Given the description of an element on the screen output the (x, y) to click on. 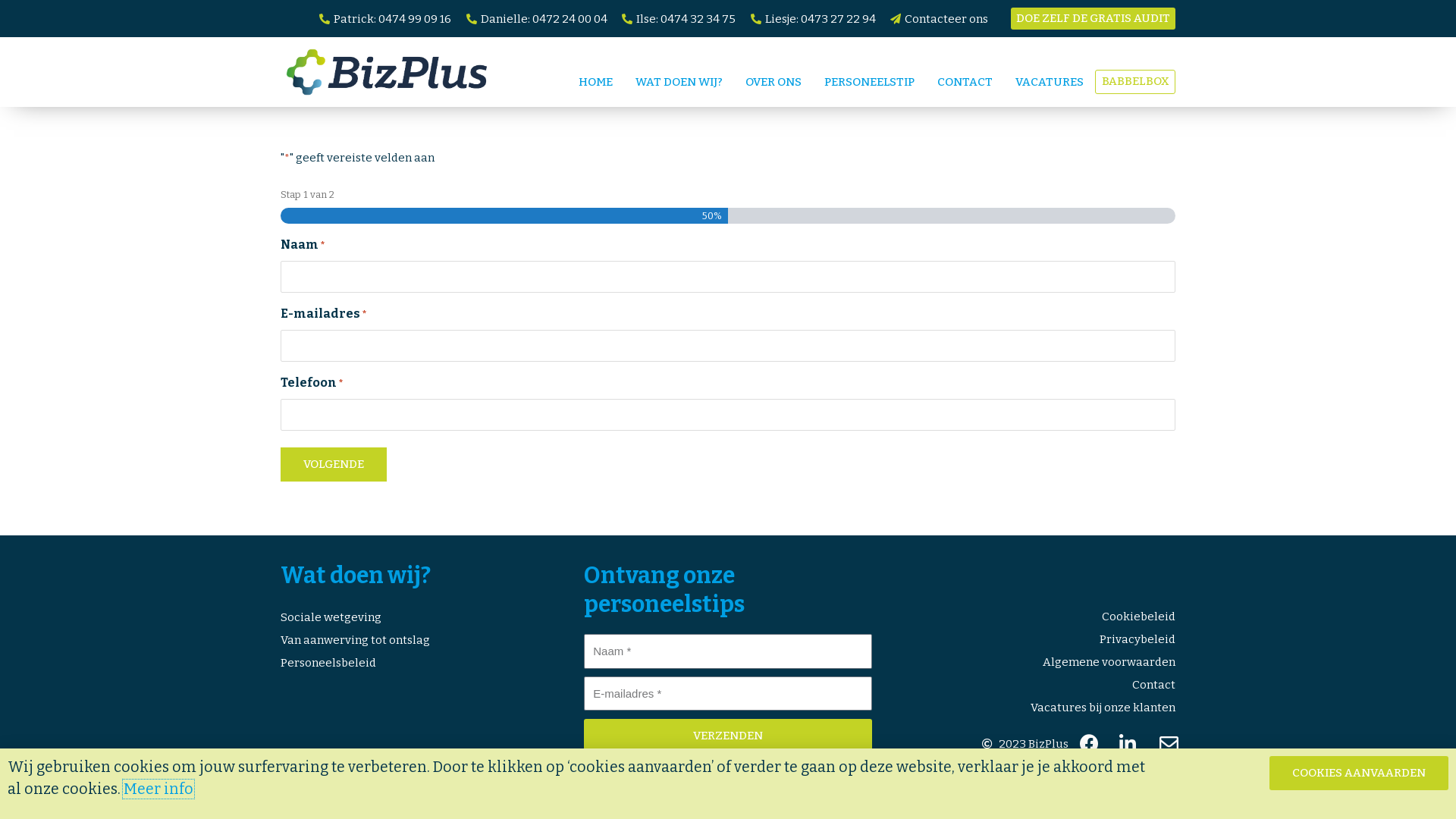
VACATURES Element type: text (1049, 81)
Cookiebeleid Element type: text (1031, 616)
VERZENDEN Element type: text (727, 735)
HOME Element type: text (595, 81)
WAT DOEN WIJ? Element type: text (679, 81)
COOKIES AANVAARDEN Element type: text (1358, 773)
Contacteer ons Element type: text (937, 18)
Volgende Element type: text (333, 464)
Vacatures bij onze klanten Element type: text (1031, 707)
OVER ONS Element type: text (773, 81)
Van aanwerving tot ontslag Element type: text (424, 639)
Privacybeleid Element type: text (1031, 638)
Sociale wetgeving Element type: text (424, 616)
Danielle: 0472 24 00 04 Element type: text (535, 18)
Ilse: 0474 32 34 75 Element type: text (676, 18)
CONTACT Element type: text (964, 81)
Personeelsbeleid Element type: text (424, 662)
DOE ZELF DE GRATIS AUDIT Element type: text (1092, 18)
Contact Element type: text (1031, 684)
Meer info Element type: text (158, 788)
PERSONEELSTIP Element type: text (868, 81)
Patrick: 0474 99 09 16 Element type: text (383, 18)
BABBELBOX Element type: text (1135, 81)
Liesje: 0473 27 22 94 Element type: text (811, 18)
Algemene voorwaarden Element type: text (1031, 661)
